Given the description of an element on the screen output the (x, y) to click on. 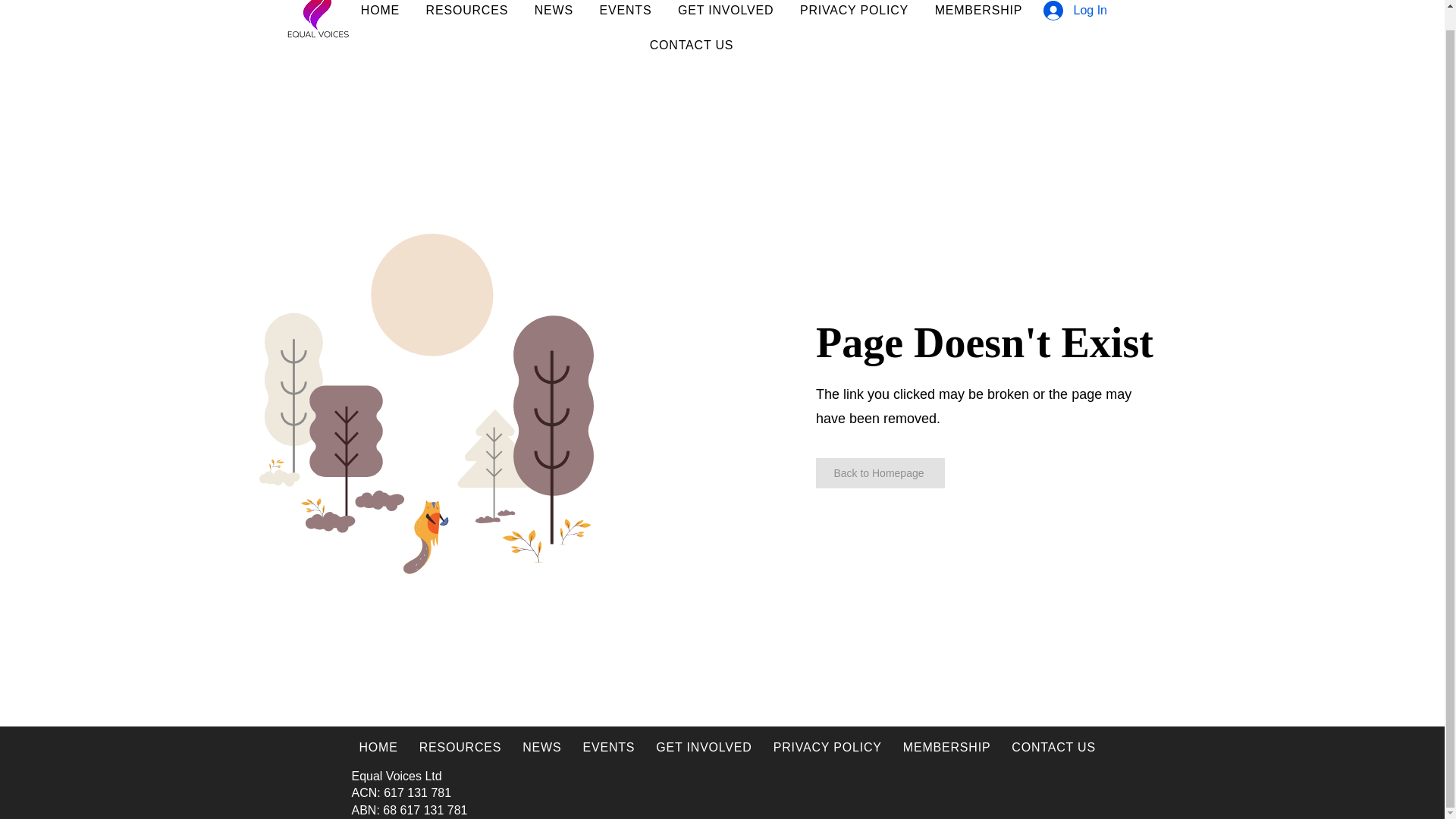
CONTACT US (1053, 747)
MEMBERSHIP (978, 12)
GET INVOLVED (702, 747)
EVENTS (625, 12)
HOME (379, 747)
Back to Homepage (879, 472)
RESOURCES (466, 12)
MEMBERSHIP (946, 747)
CONTACT US (691, 45)
